Given the description of an element on the screen output the (x, y) to click on. 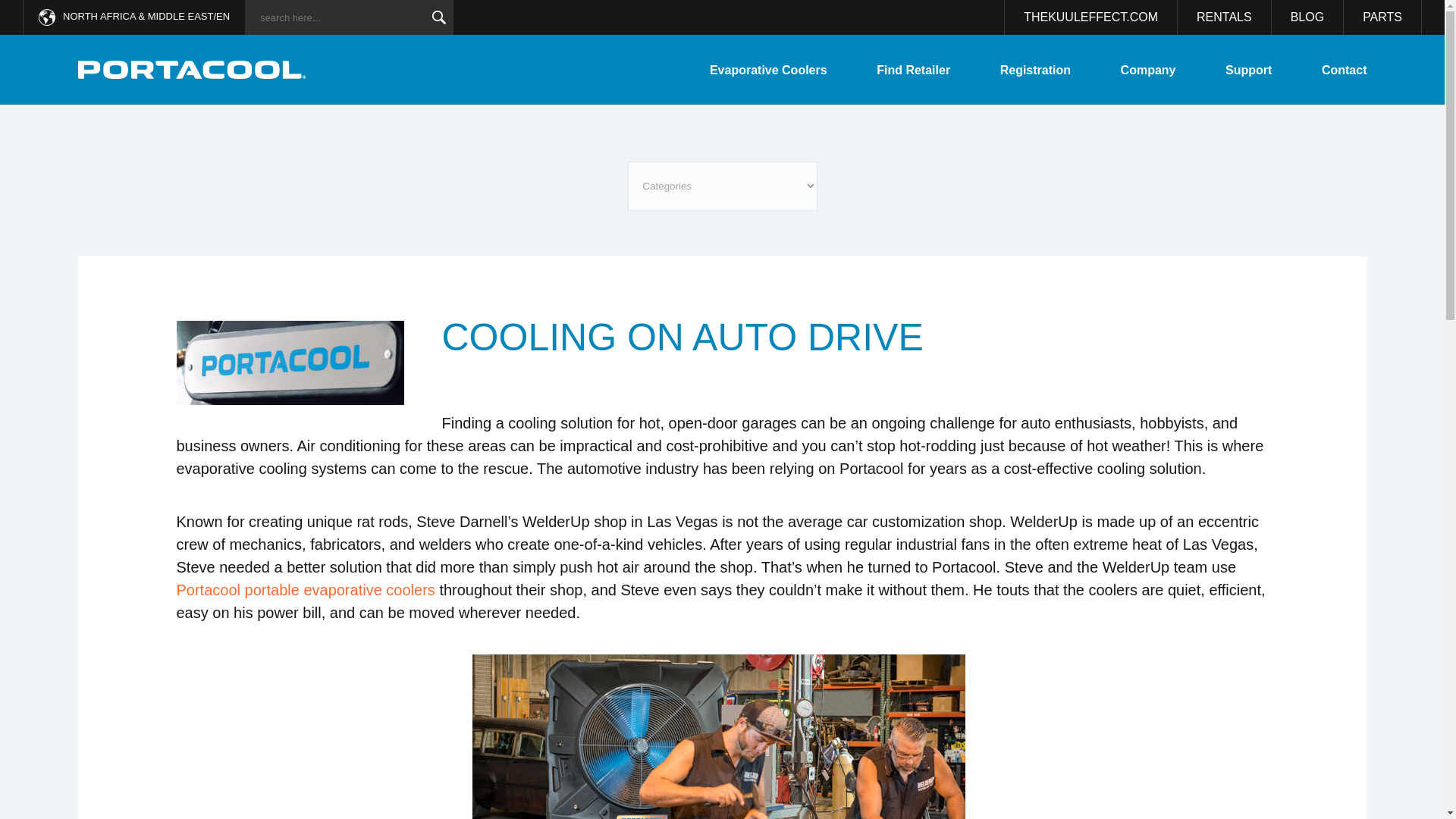
PARTS (1382, 17)
Company (1148, 69)
Search (438, 17)
THEKUULEFFECT.COM (1090, 17)
BLOG (1307, 17)
Evaporative Coolers (768, 69)
Find Retailer (913, 69)
Registration (1035, 69)
Portacool portable evaporative coolers (307, 589)
Contact (1344, 69)
